Given the description of an element on the screen output the (x, y) to click on. 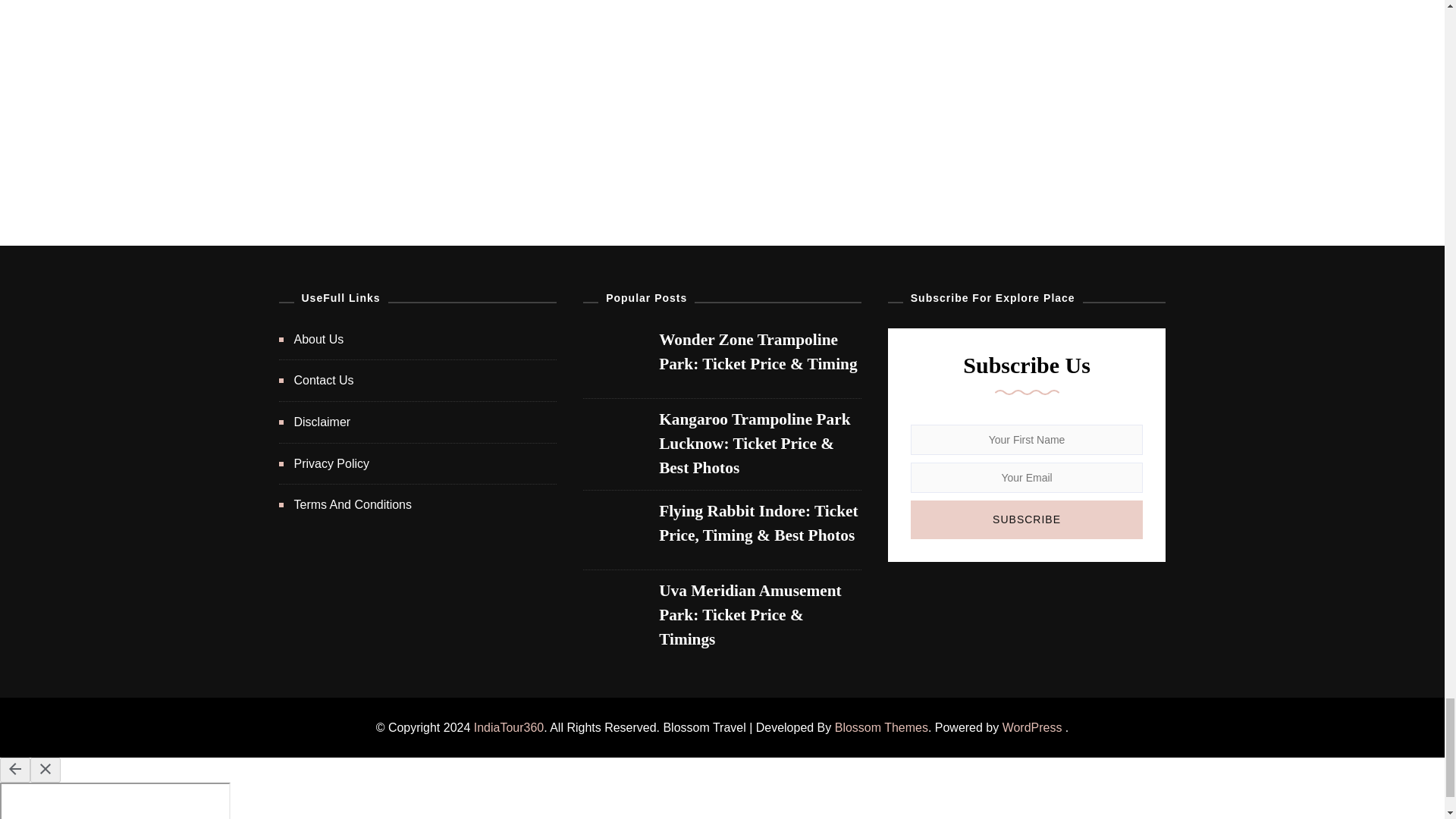
Subscribe (1026, 519)
